Given the description of an element on the screen output the (x, y) to click on. 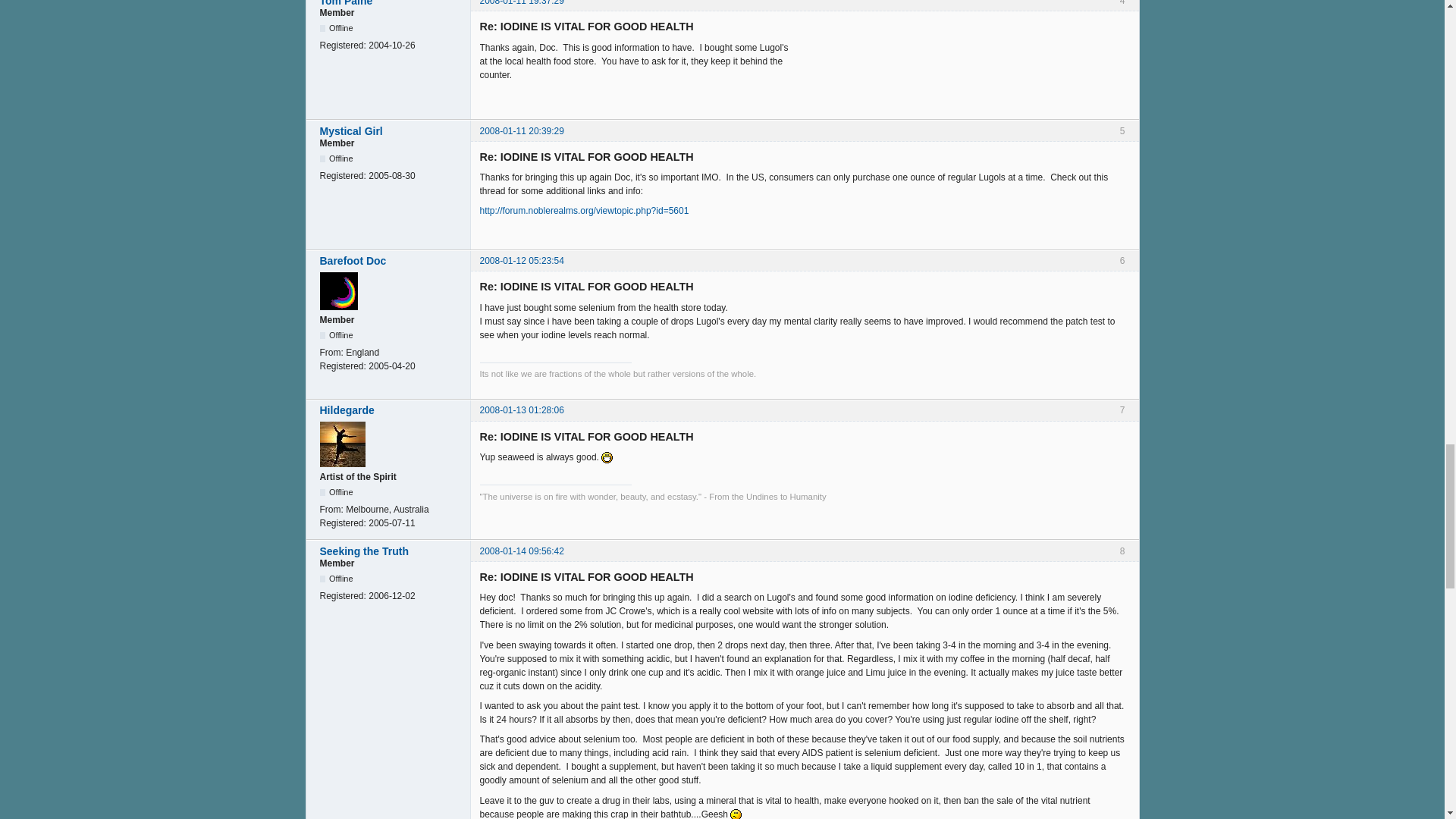
Go to Tom Paine's profile (390, 3)
2008-01-12 05:23:54 (521, 260)
Tom Paine (390, 3)
2008-01-11 19:37:29 (521, 2)
2008-01-13 01:28:06 (521, 409)
2008-01-11 20:39:29 (521, 131)
Hildegarde (390, 409)
Mystical Girl (390, 131)
Barefoot Doc (390, 260)
